Given the description of an element on the screen output the (x, y) to click on. 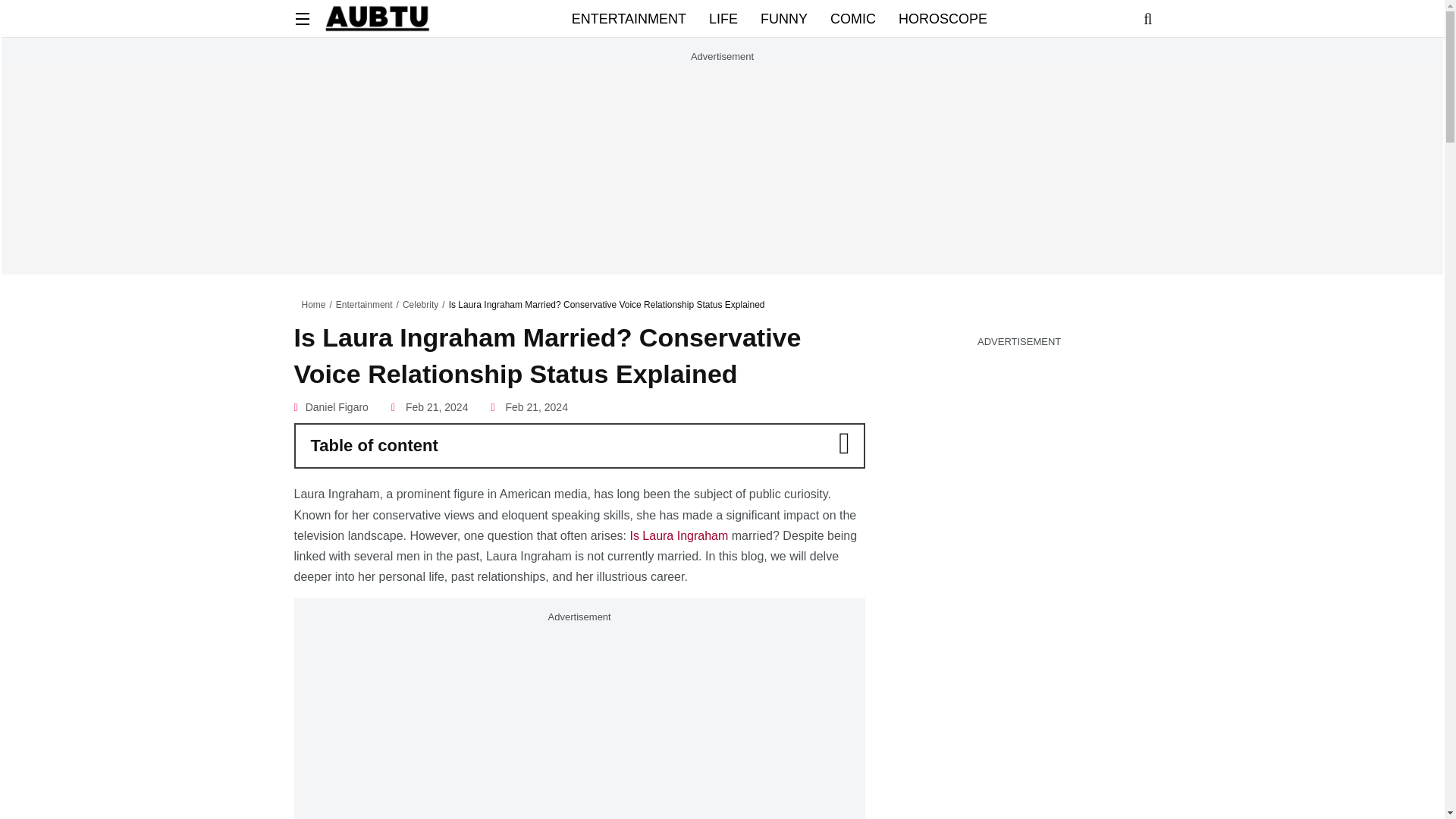
COMIC (852, 18)
FUNNY (784, 18)
ENTERTAINMENT (628, 18)
Entertainment (364, 304)
LIFE (723, 18)
Home (313, 304)
HOROSCOPE (942, 18)
Celebrity (420, 304)
